Given the description of an element on the screen output the (x, y) to click on. 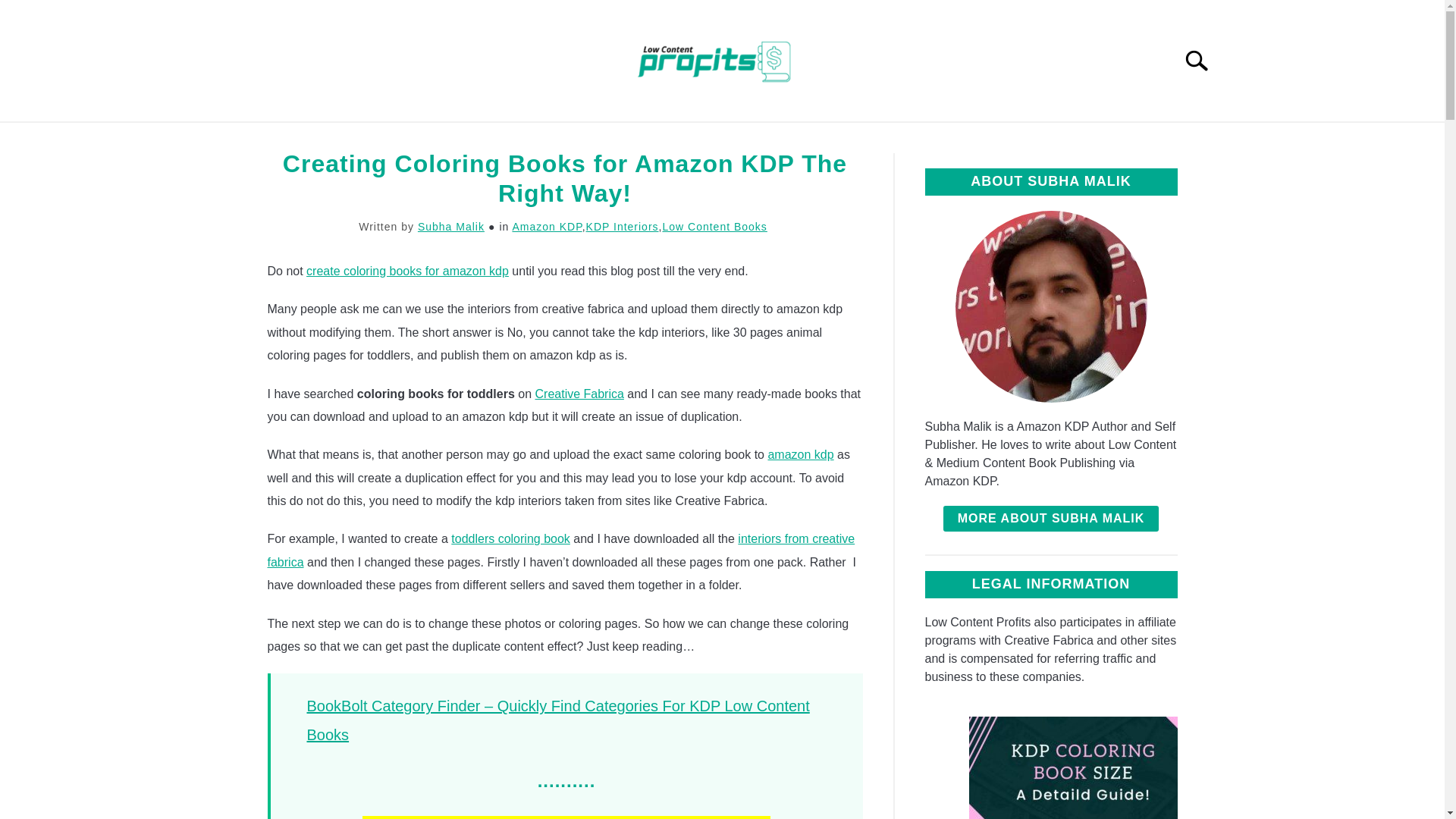
Amazon KDP (546, 226)
Search (1203, 60)
KDP MASTERCLASS (828, 140)
Subha Malik (450, 226)
CONTACT (958, 140)
interiors from creative fabrica (560, 550)
AMAZON KDP (400, 140)
Creative Fabrica (579, 393)
create coloring books for amazon kdp (406, 270)
HOME (301, 140)
AMAZON KDP KEYWORD GENERATOR (604, 140)
amazon kdp (799, 454)
toddlers coloring book (510, 538)
Low Content Books (714, 226)
KDP Interiors (622, 226)
